Given the description of an element on the screen output the (x, y) to click on. 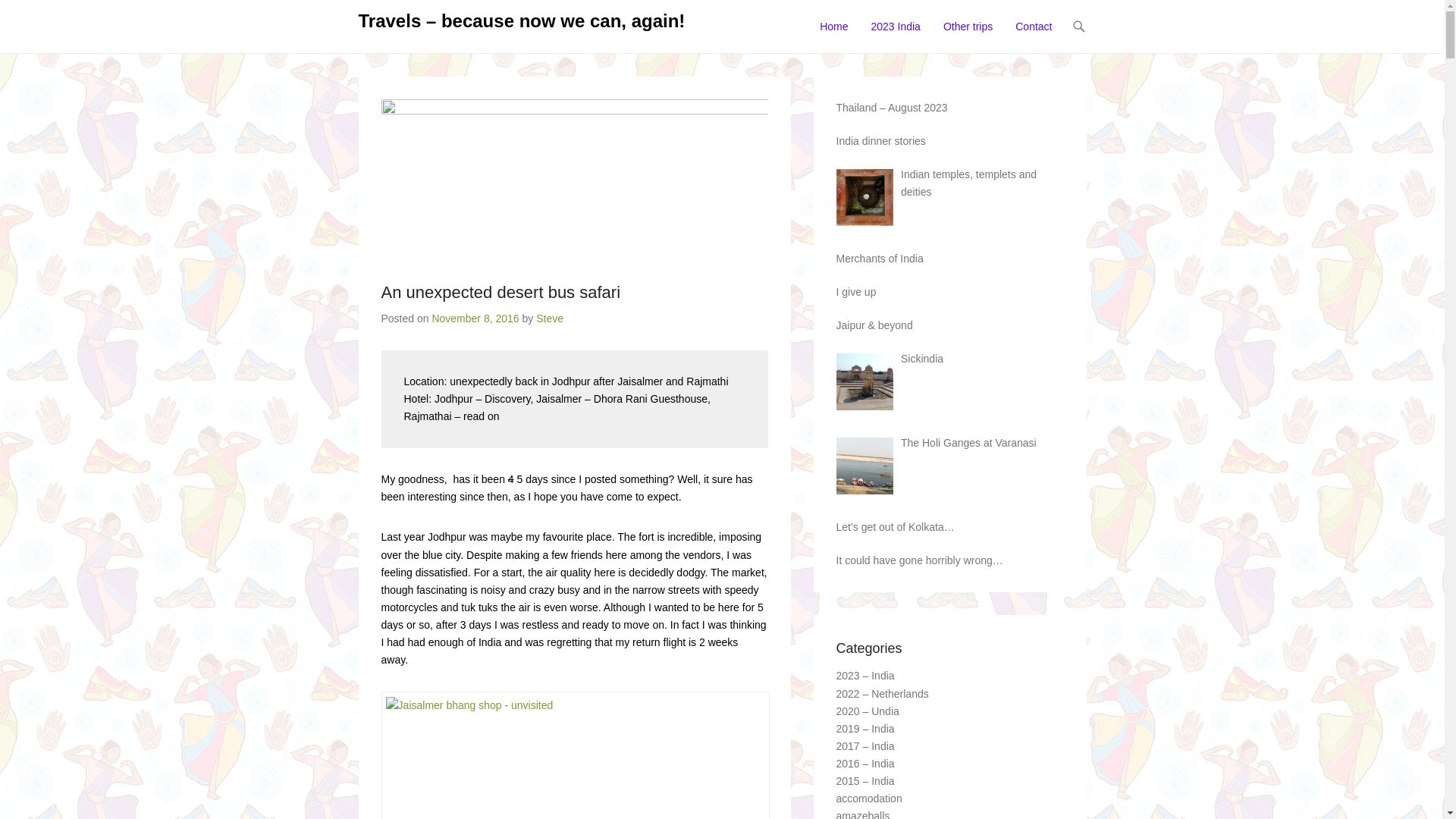
Contact Element type: text (1033, 35)
November 8, 2016 Element type: text (474, 318)
accomodation Element type: text (868, 798)
Home Element type: text (833, 35)
Jaipur & beyond Element type: text (873, 325)
Skip to content Element type: text (847, 27)
2023 India Element type: text (894, 35)
Indian temples, templets and deities Element type: text (968, 182)
Steve Element type: text (549, 318)
I give up Element type: text (855, 291)
Other trips Element type: text (967, 35)
Permalink to An unexpected desert bus safari Element type: hover (573, 177)
Sickindia Element type: text (921, 358)
The Holi Ganges at Varanasi Element type: text (968, 442)
India dinner stories Element type: text (880, 140)
Merchants of India Element type: text (878, 258)
